Given the description of an element on the screen output the (x, y) to click on. 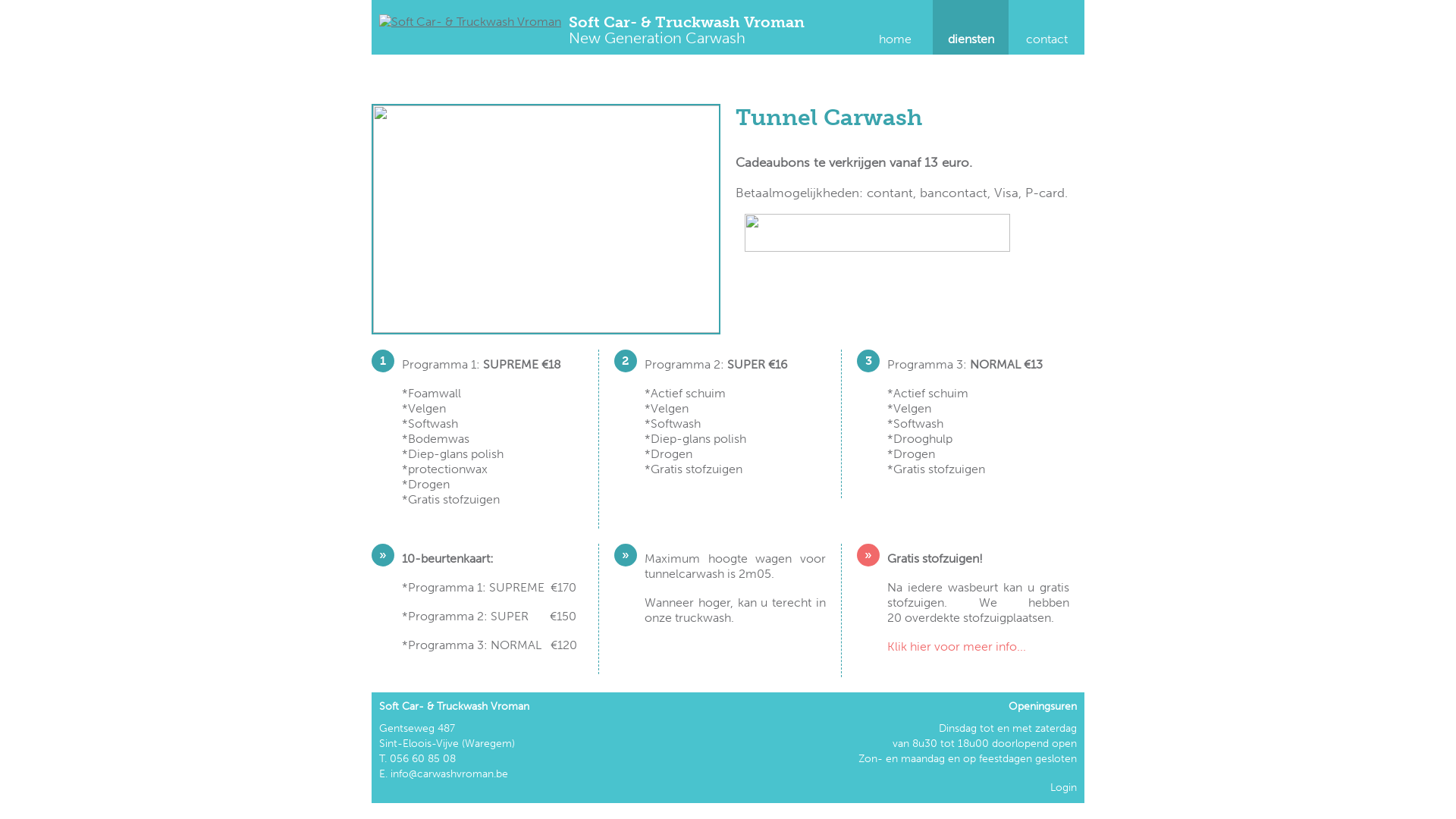
Login Element type: text (1063, 787)
TRUCKWASH Element type: text (636, 71)
STOFZUIGER PARK Element type: text (1000, 71)
Soft Car- & Truckwash Vroman Element type: hover (470, 20)
Klik hier voor meer info... Element type: text (956, 646)
contact Element type: text (1046, 27)
diensten Element type: text (970, 27)
SELF CARWASH Element type: text (818, 71)
TUNNEL CARWASH Element type: text (454, 71)
info@carwashvroman.be Element type: text (449, 773)
Soft Car- & Truckwash Vroman
New Generation Carwash Element type: text (686, 30)
home Element type: text (894, 27)
